Given the description of an element on the screen output the (x, y) to click on. 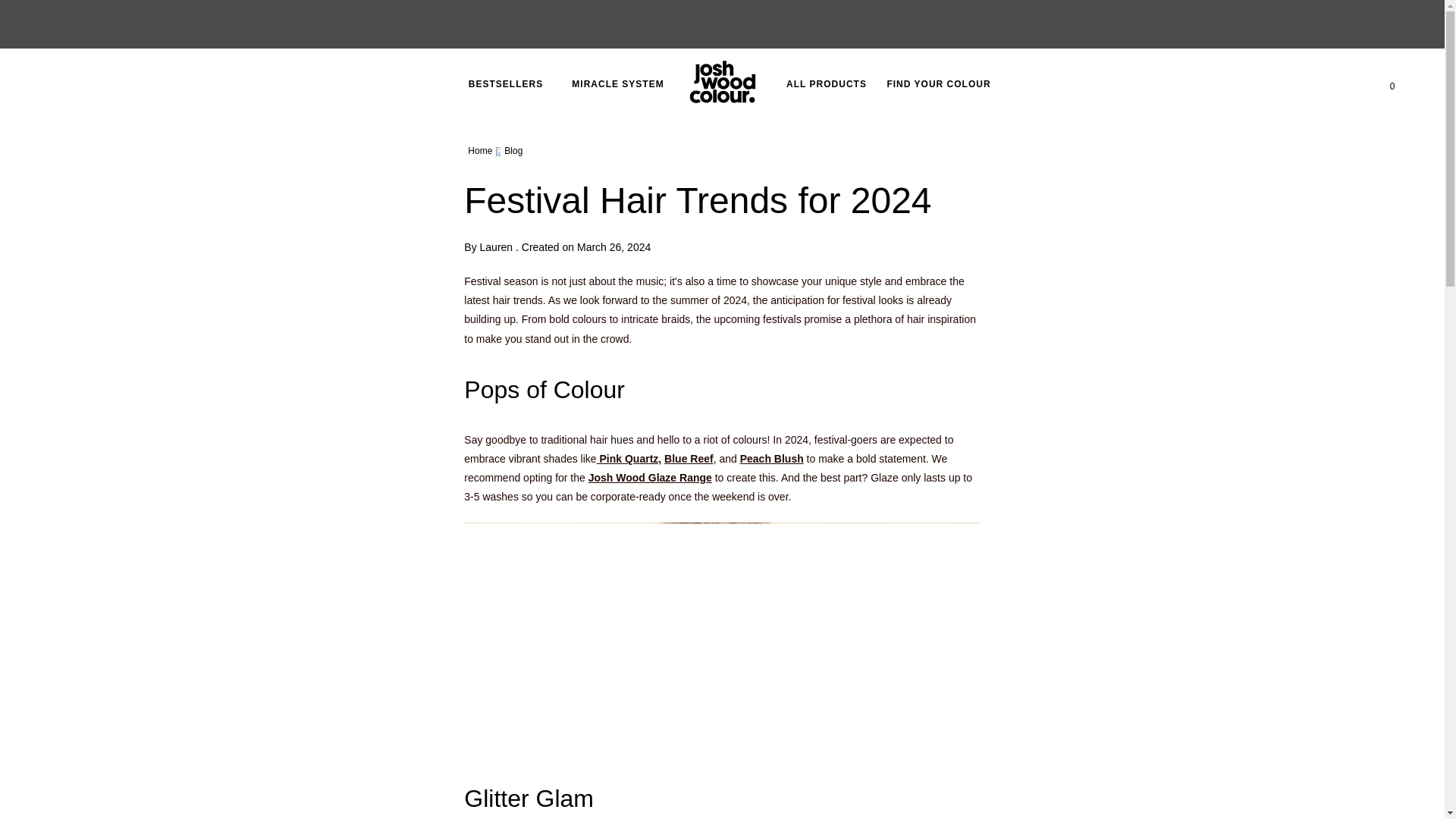
ALL PRODUCTS (825, 84)
MIRACLE SYSTEM (617, 84)
Josh Wood Glaze Range (649, 477)
Pink Quartz, (629, 458)
BESTSELLERS (505, 84)
Peach Blush (771, 458)
Home (479, 150)
Blog (512, 150)
0 (1392, 83)
Blue Reef (688, 458)
FIND YOUR COLOUR (938, 84)
